Given the description of an element on the screen output the (x, y) to click on. 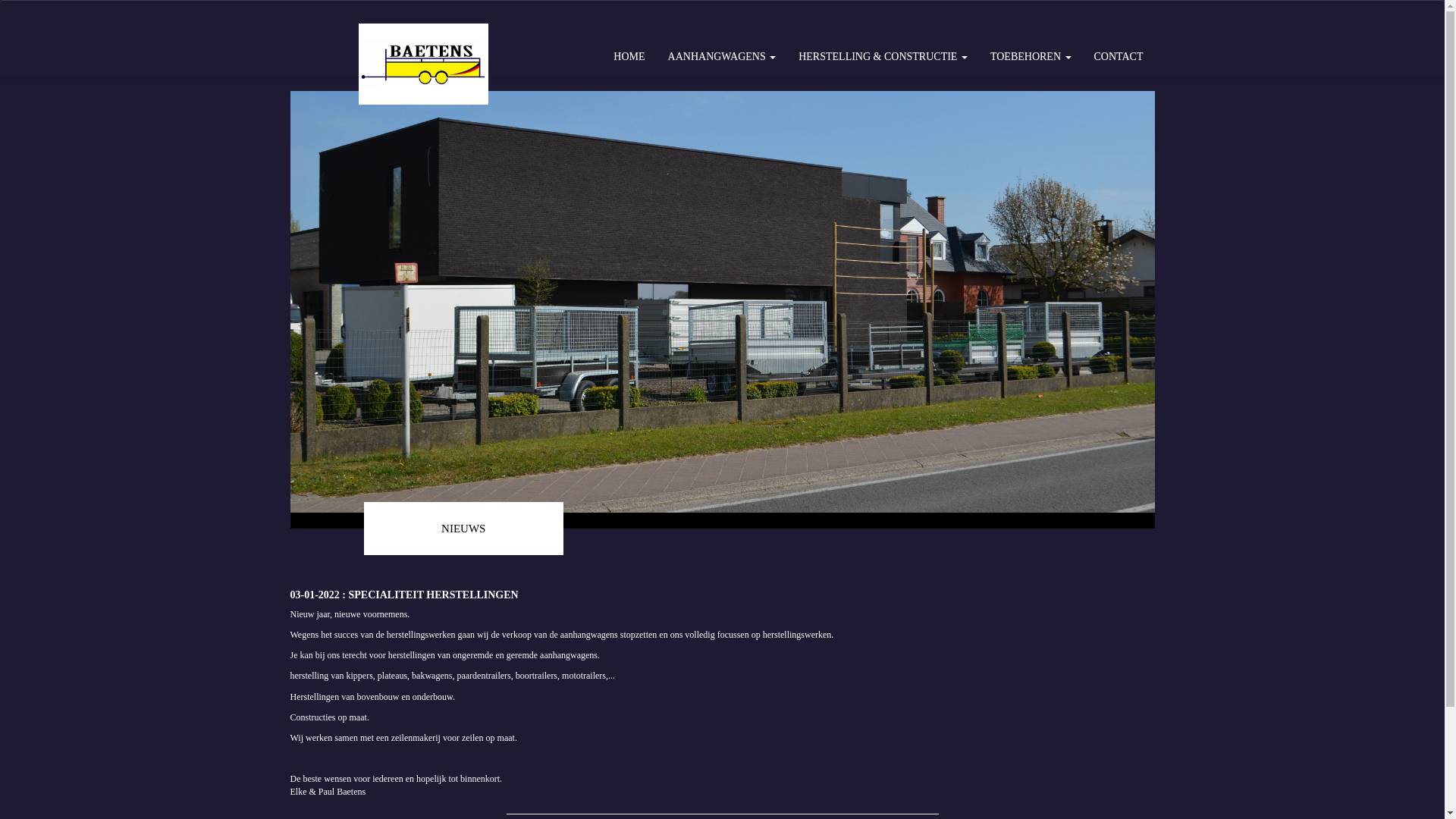
HOME Element type: text (628, 56)
AANHANGWAGENS Element type: text (721, 56)
baetens aanhangwagens.jpg Element type: hover (721, 301)
CONTACT Element type: text (1118, 56)
TOEBEHOREN Element type: text (1030, 56)
HERSTELLING & CONSTRUCTIE Element type: text (883, 56)
